Given the description of an element on the screen output the (x, y) to click on. 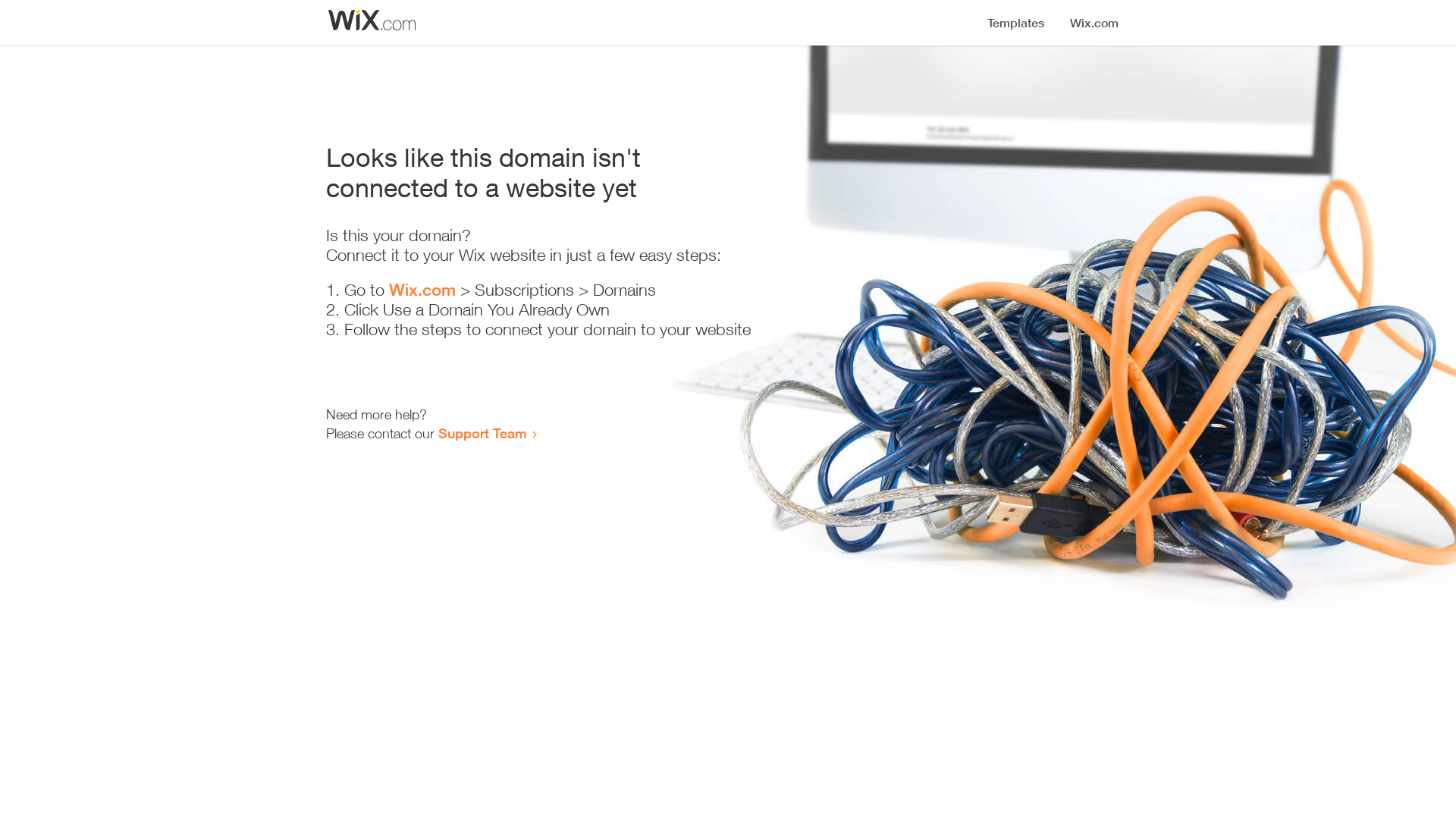
Support Team Element type: text (482, 432)
Wix.com Element type: text (422, 289)
